Given the description of an element on the screen output the (x, y) to click on. 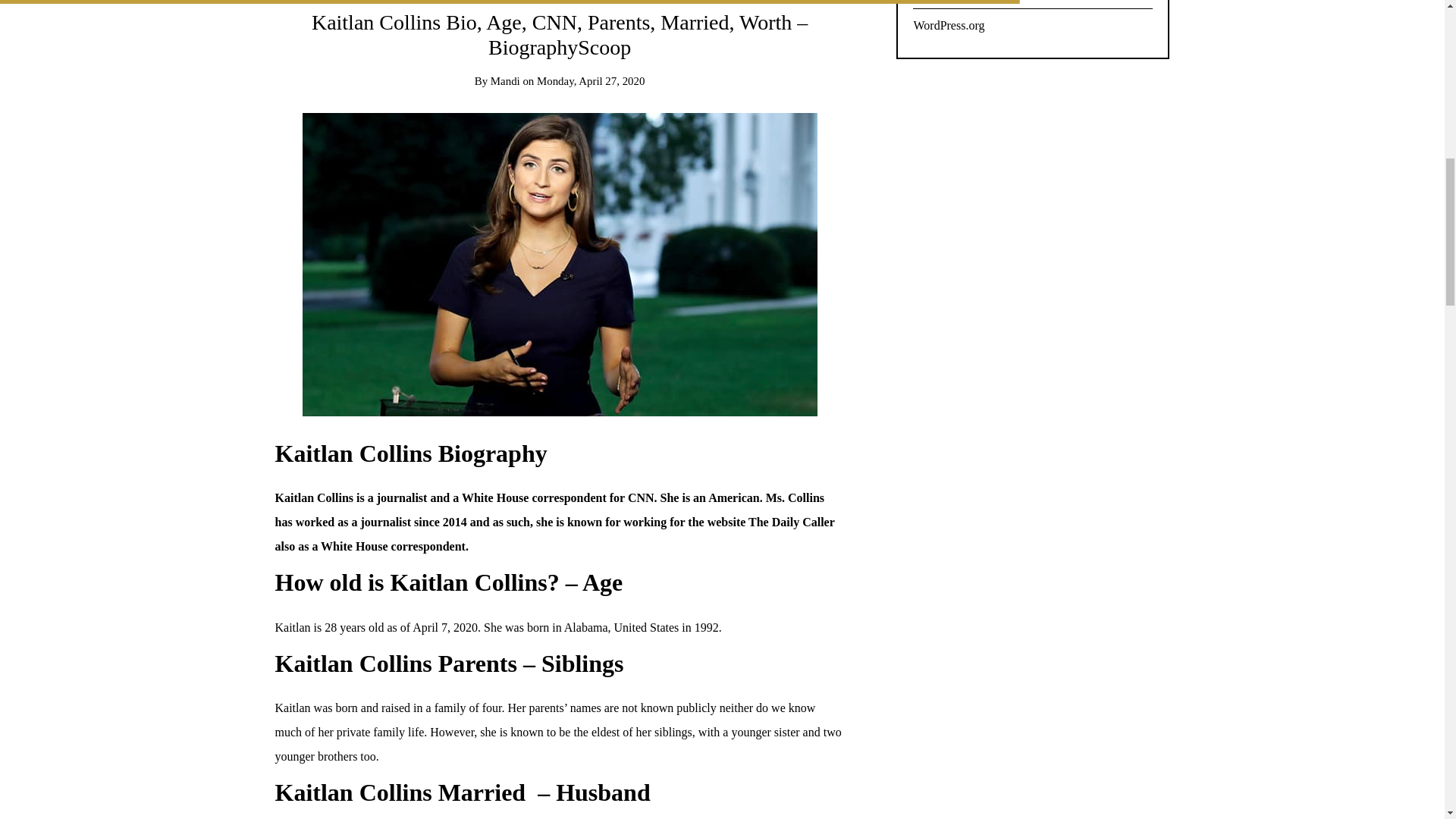
Comments feed (1032, 4)
Posts by mandi (504, 80)
Mandi (504, 80)
WordPress.org (1032, 25)
Monday, April 27, 2020 (591, 80)
